Given the description of an element on the screen output the (x, y) to click on. 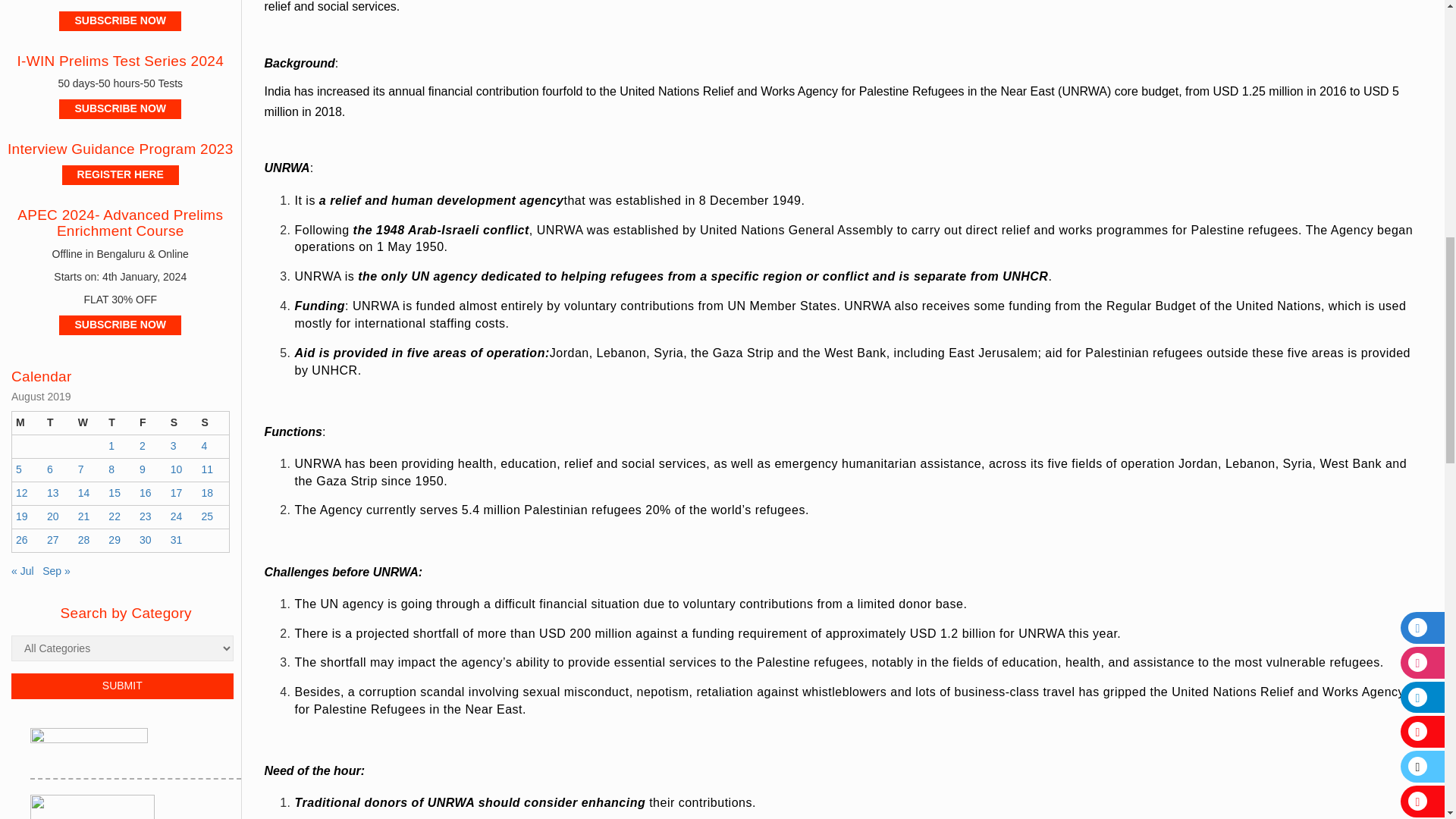
Monday (27, 422)
Wednesday (89, 422)
Saturday (182, 422)
Submit (121, 686)
Sunday (212, 422)
Tuesday (58, 422)
Friday (151, 422)
Thursday (119, 422)
